Given the description of an element on the screen output the (x, y) to click on. 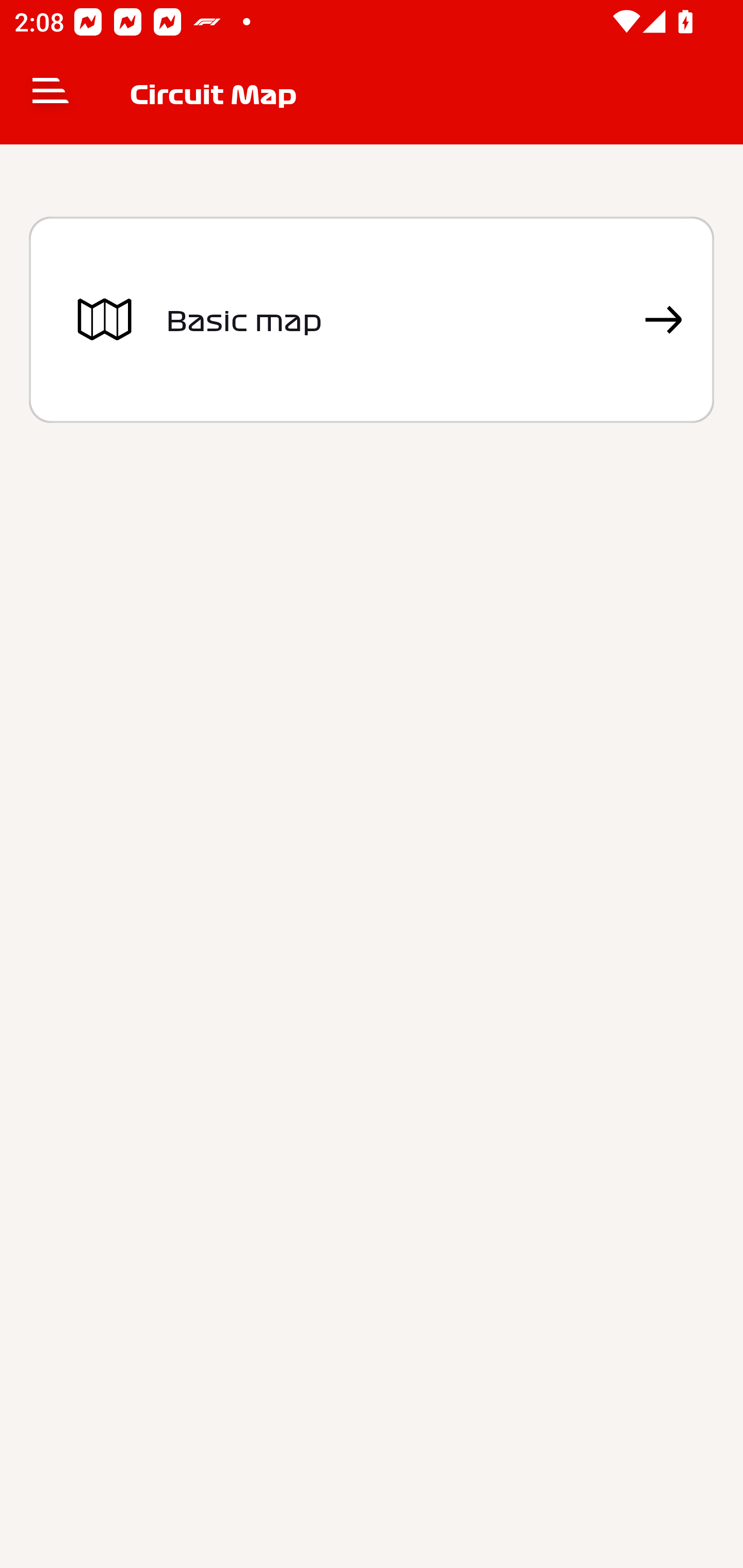
Navigate up (50, 93)
Basic map (371, 319)
